Given the description of an element on the screen output the (x, y) to click on. 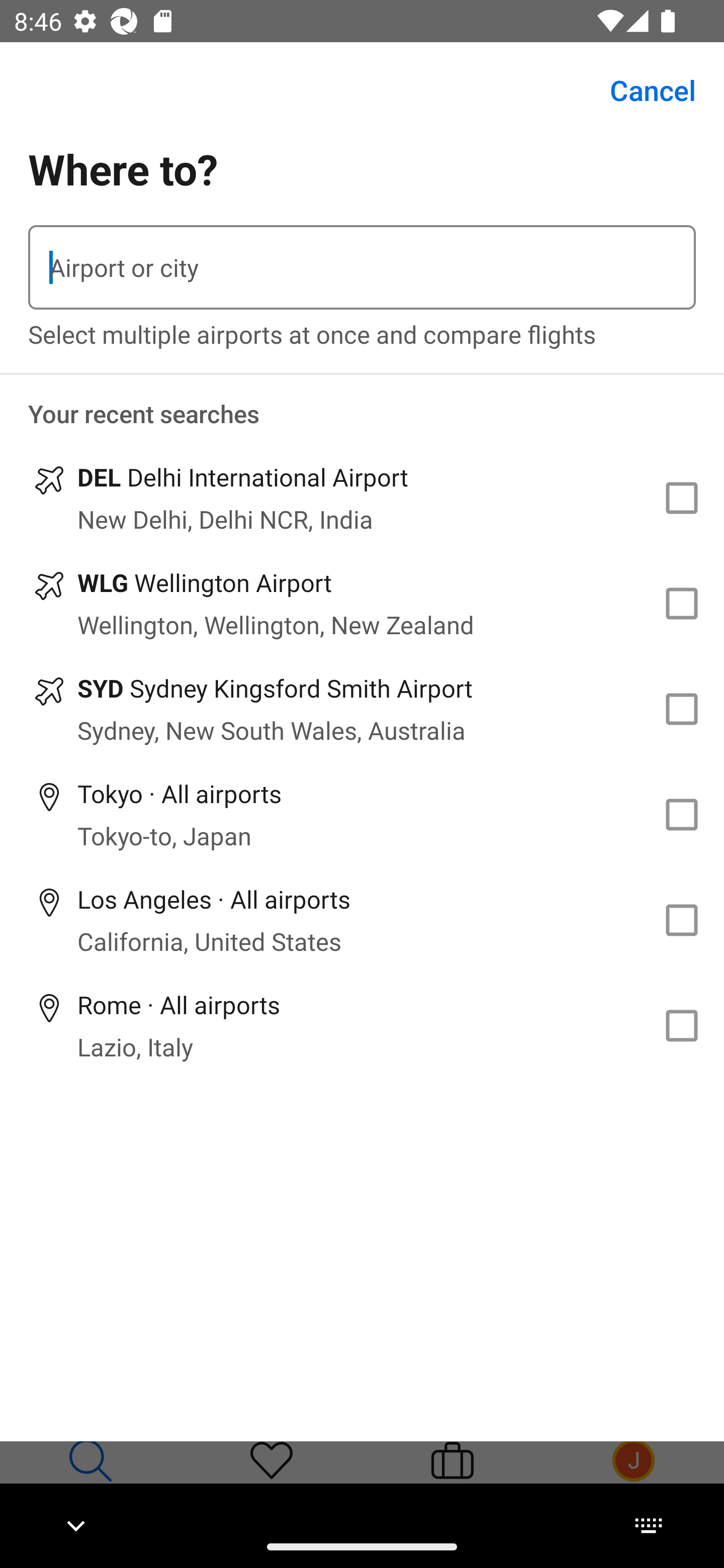
Cancel (641, 90)
Airport or city (361, 266)
Tokyo · All airports Tokyo-to, Japan (362, 814)
Rome · All airports Lazio, Italy (362, 1025)
